Given the description of an element on the screen output the (x, y) to click on. 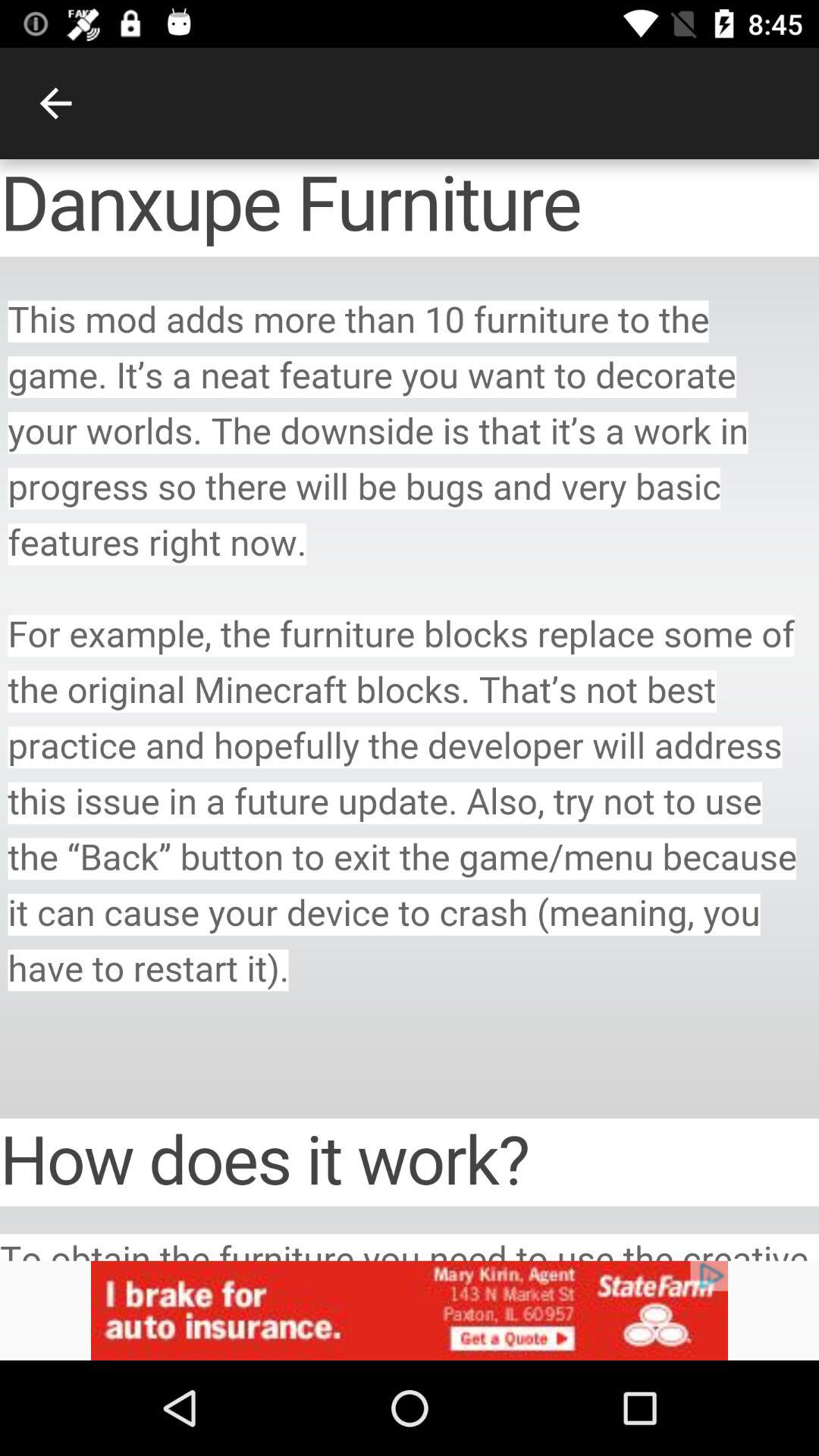
view the advertisement (409, 1310)
